Given the description of an element on the screen output the (x, y) to click on. 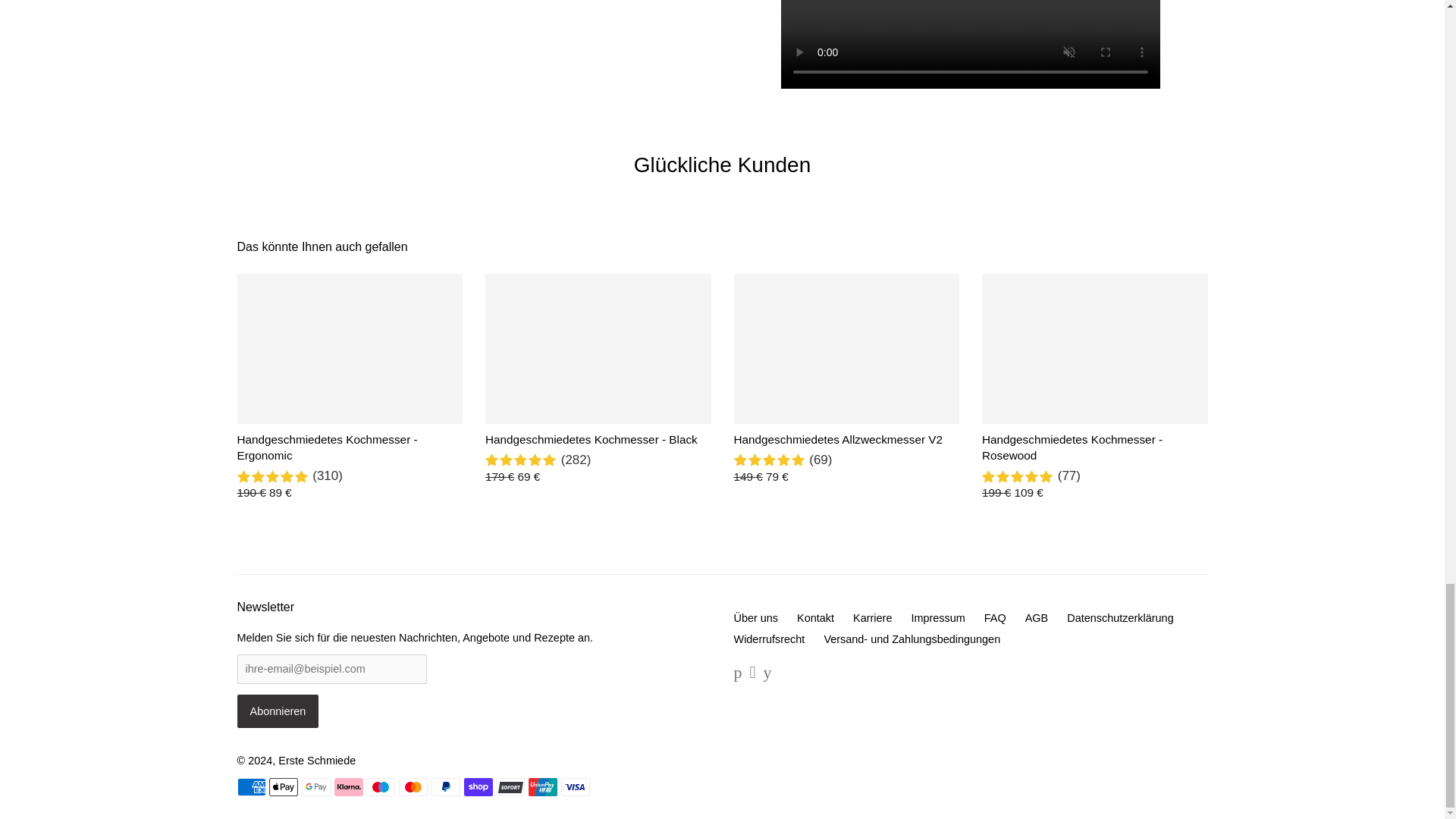
FAQ (995, 617)
Karriere (872, 617)
Impressum (937, 617)
Abonnieren (276, 711)
Abonnieren (276, 711)
Kontakt (815, 617)
